Given the description of an element on the screen output the (x, y) to click on. 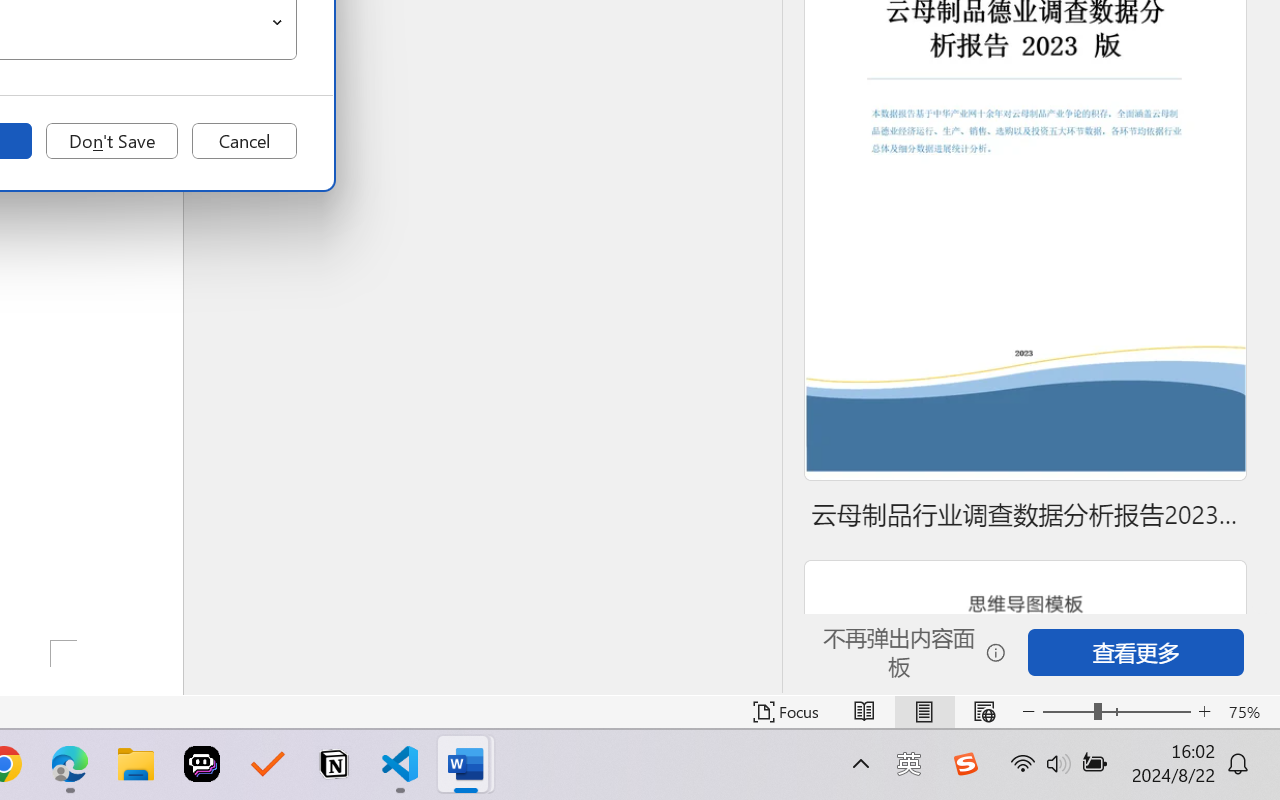
Poe (201, 764)
Zoom (1116, 712)
Notion (333, 764)
Print Layout (924, 712)
Class: Image (965, 764)
Don't Save (111, 141)
